Given the description of an element on the screen output the (x, y) to click on. 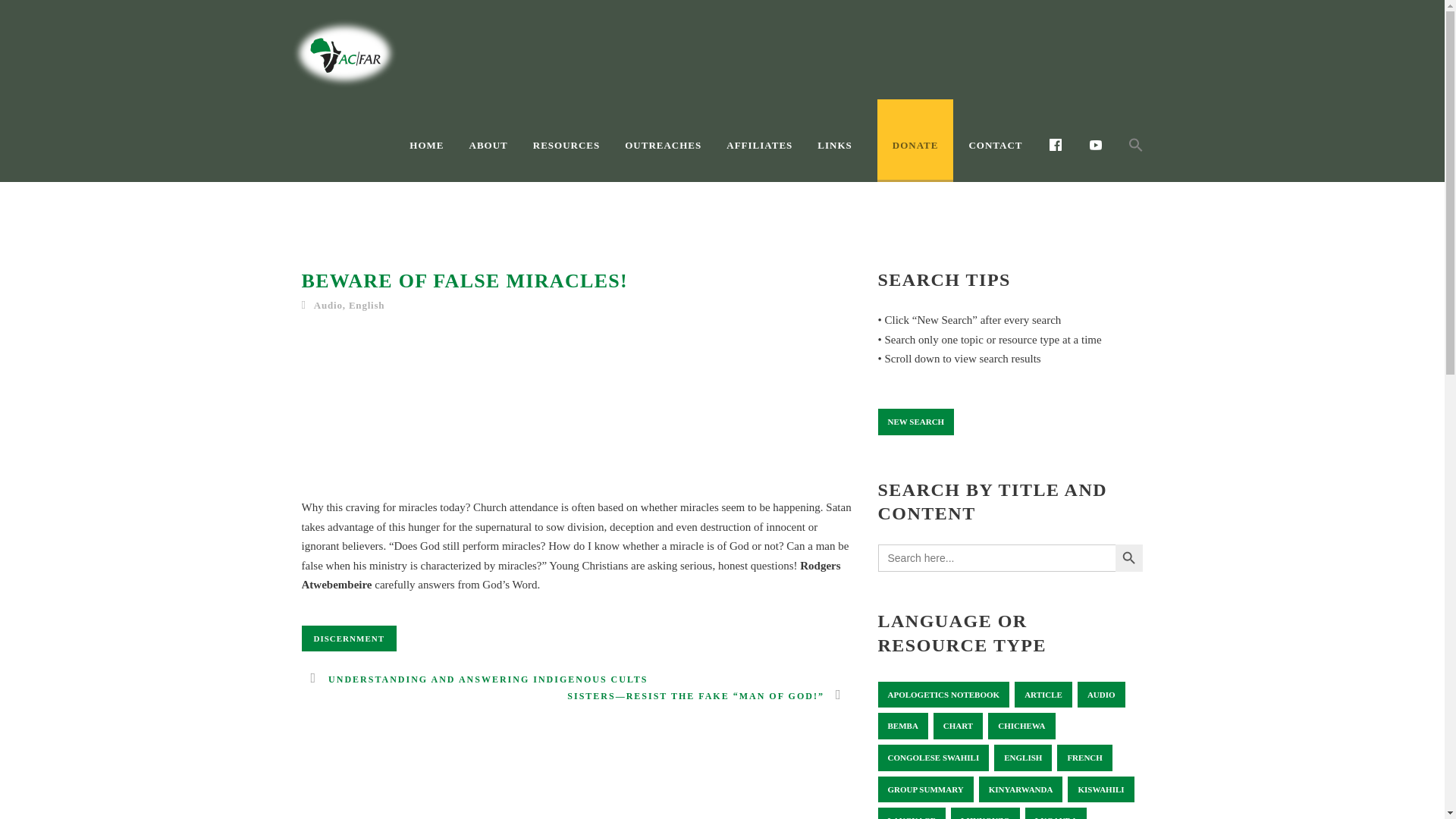
ABOUT (500, 158)
HOME (438, 158)
